Given the description of an element on the screen output the (x, y) to click on. 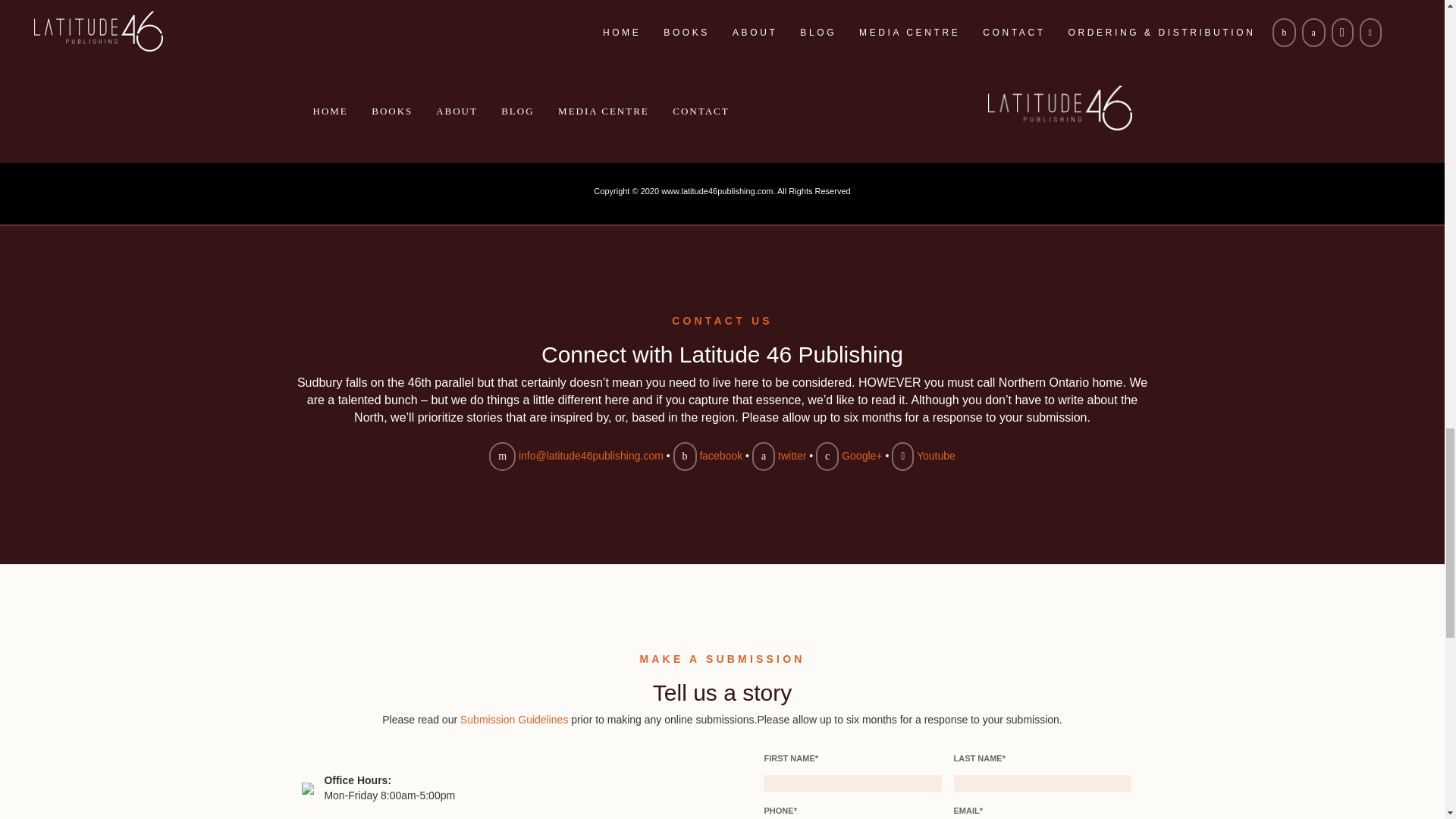
Youtube (936, 455)
BOOKS (391, 111)
MEDIA CENTRE (603, 111)
Submission Guidelines (513, 719)
ABOUT (456, 111)
BLOG (517, 111)
facebook (720, 455)
twitter (791, 455)
CONTACT (700, 111)
HOME (330, 111)
